Given the description of an element on the screen output the (x, y) to click on. 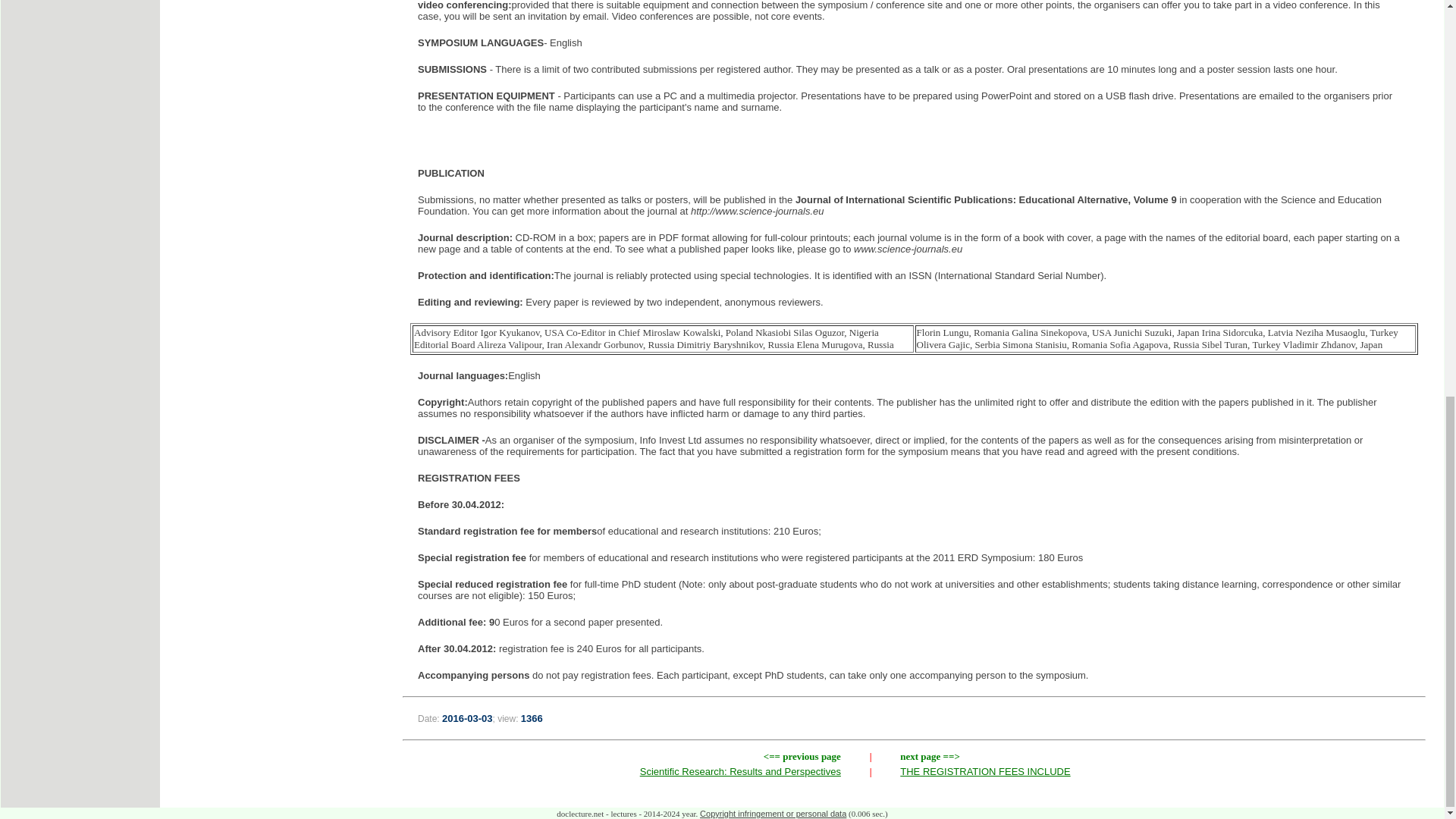
Copyright infringement or personal data (772, 813)
THE REGISTRATION FEES INCLUDE (984, 771)
Scientific Research: Results and Perspectives (740, 771)
